Given the description of an element on the screen output the (x, y) to click on. 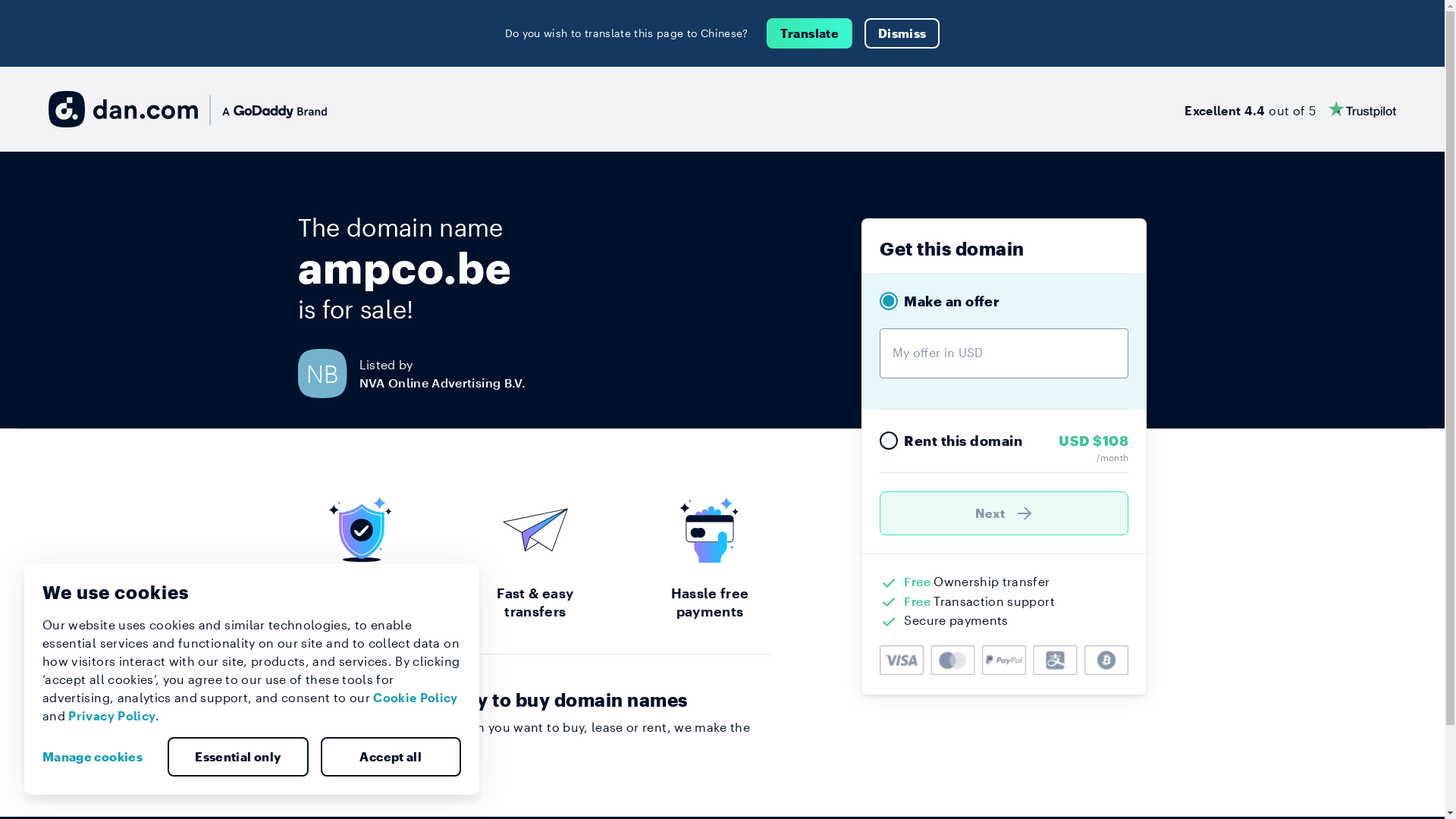
Accept all Element type: text (390, 756)
Next
) Element type: text (1003, 513)
Manage cookies Element type: text (98, 756)
Excellent 4.4 out of 5 Element type: text (1290, 109)
Translate Element type: text (809, 33)
Essential only Element type: text (237, 756)
Cookie Policy Element type: text (415, 697)
Privacy Policy Element type: text (111, 715)
Dismiss Element type: text (901, 33)
